Given the description of an element on the screen output the (x, y) to click on. 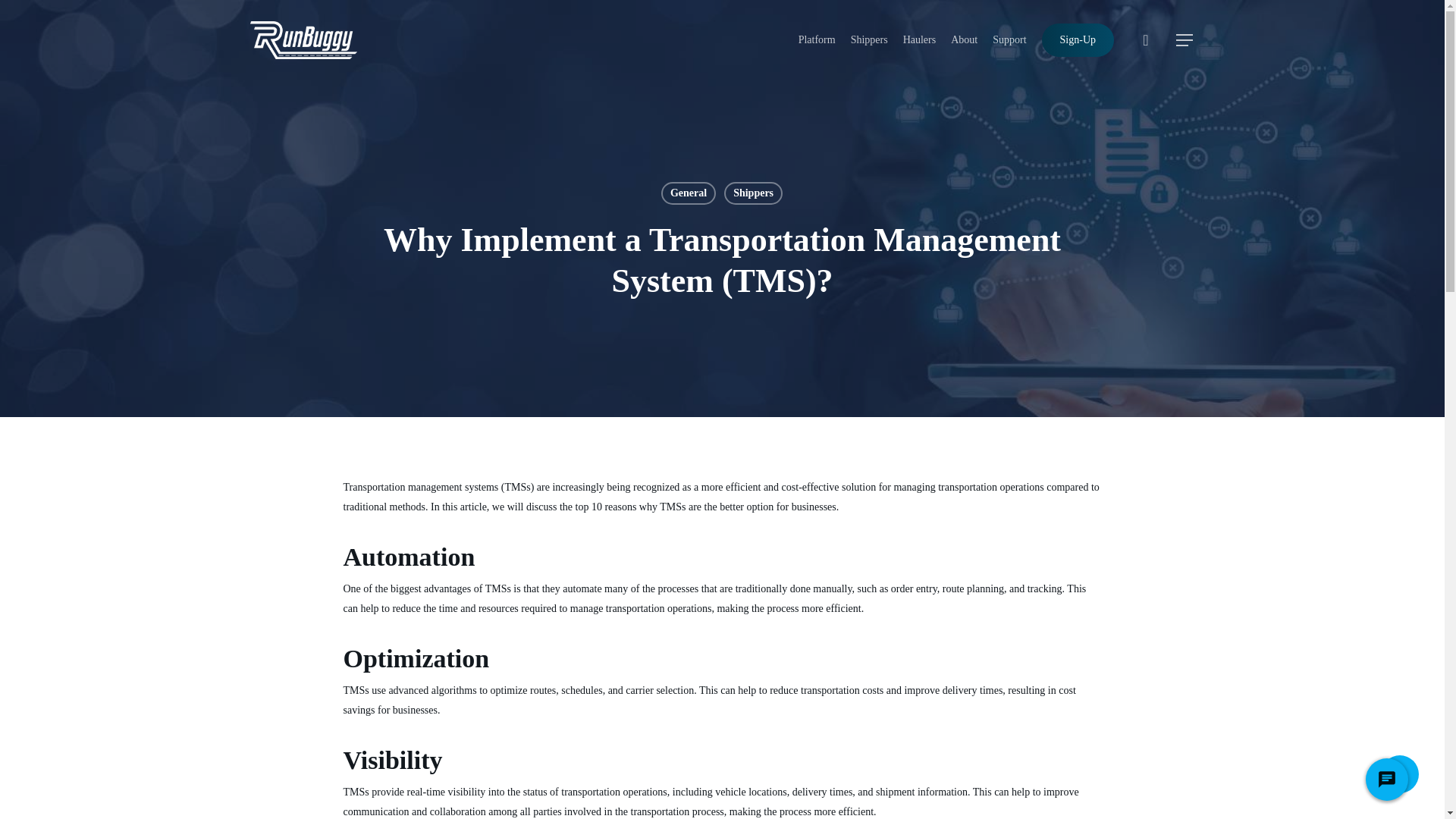
Haulers (919, 39)
Menu (1184, 39)
Shippers (869, 39)
About (963, 39)
Messenger Launcher (1386, 782)
Support (1009, 39)
General (688, 192)
Sign-Up (1077, 39)
Shippers (753, 192)
account (1145, 39)
Platform (816, 39)
